Given the description of an element on the screen output the (x, y) to click on. 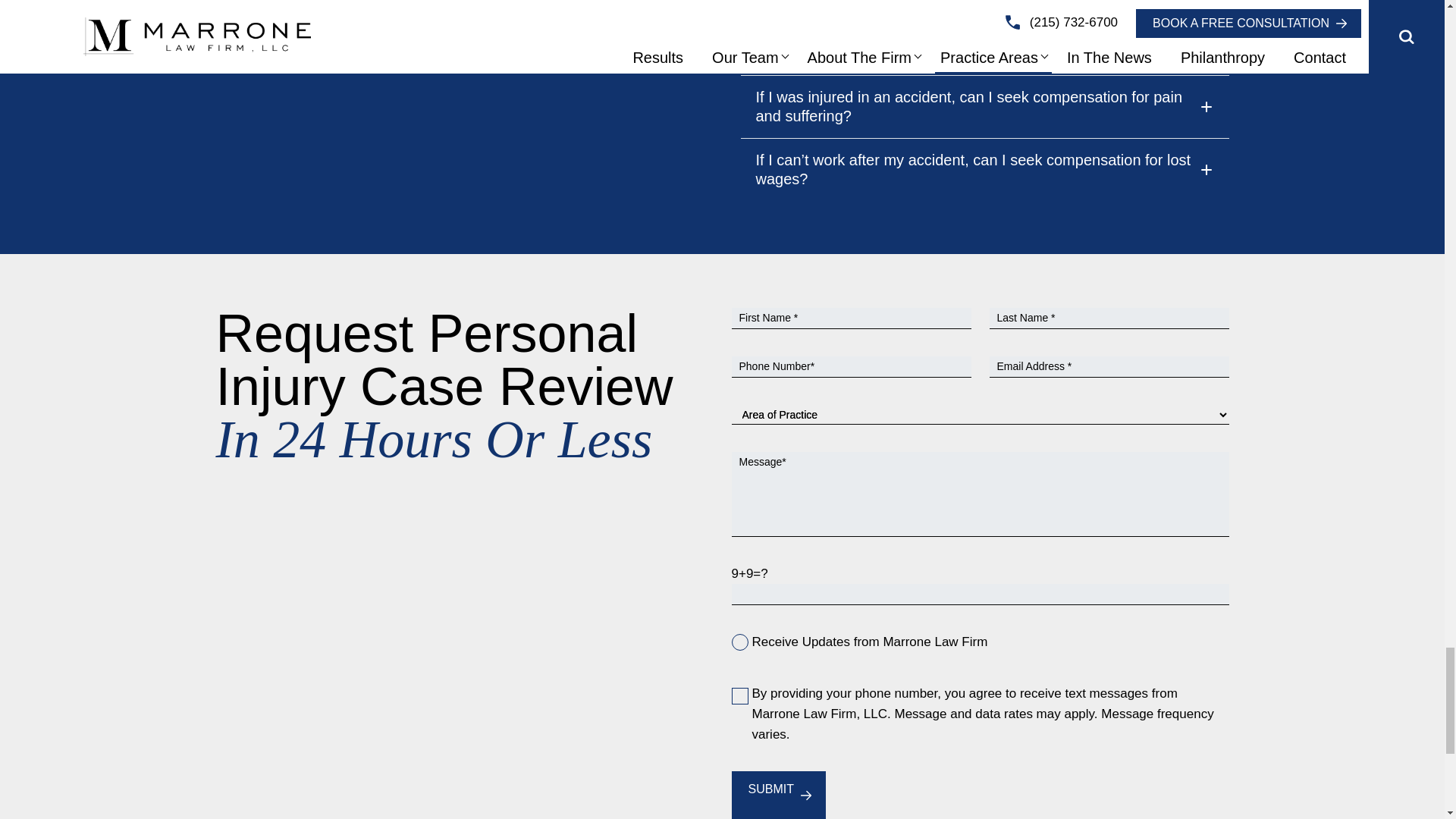
Receive Updates from Marrone Law Firm (739, 641)
Submit (770, 789)
